Given the description of an element on the screen output the (x, y) to click on. 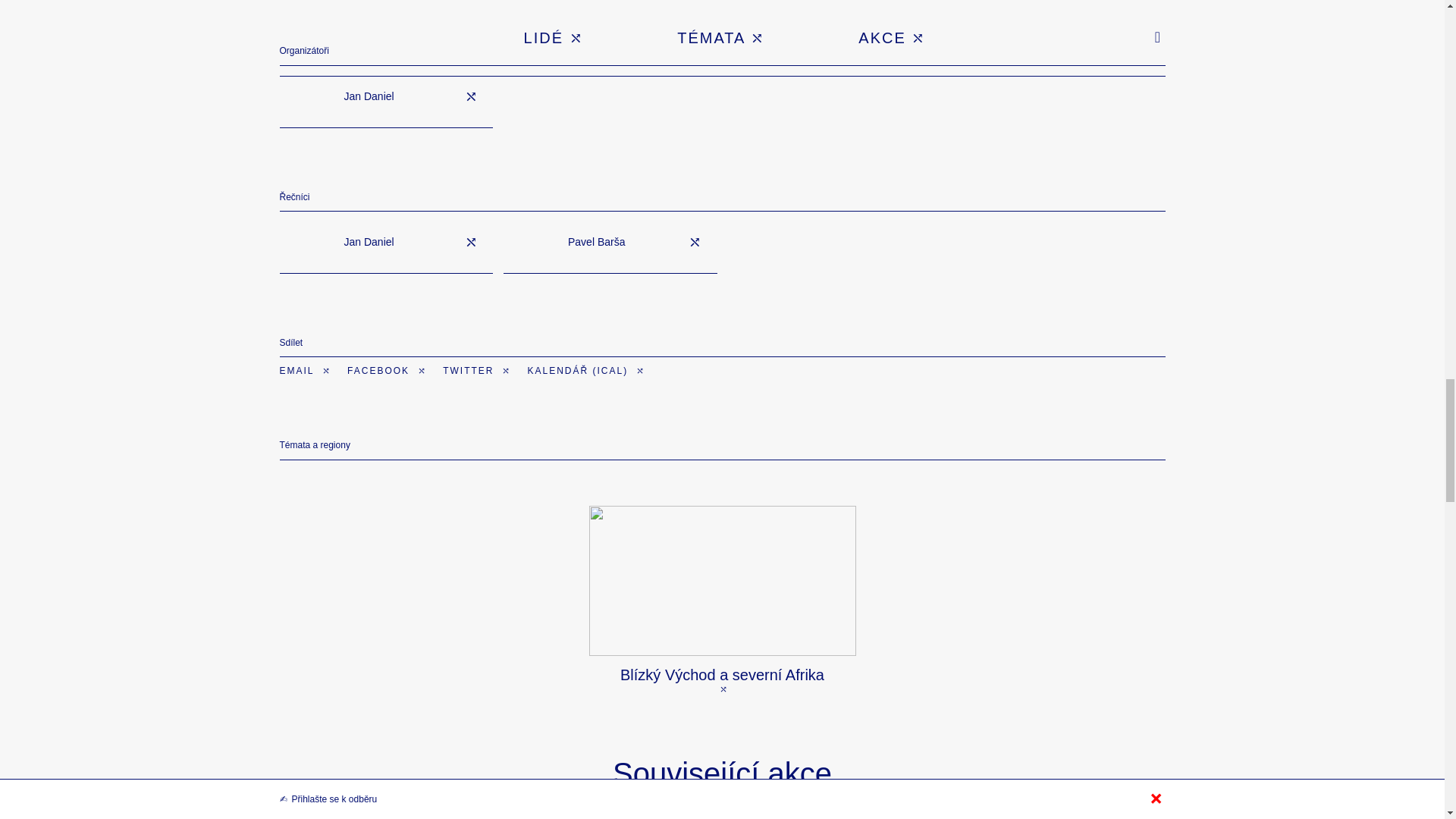
Jan Daniel (386, 242)
FACEBOOK (386, 370)
EMAIL (304, 370)
Jan Daniel (386, 96)
TWITTER (476, 370)
